Given the description of an element on the screen output the (x, y) to click on. 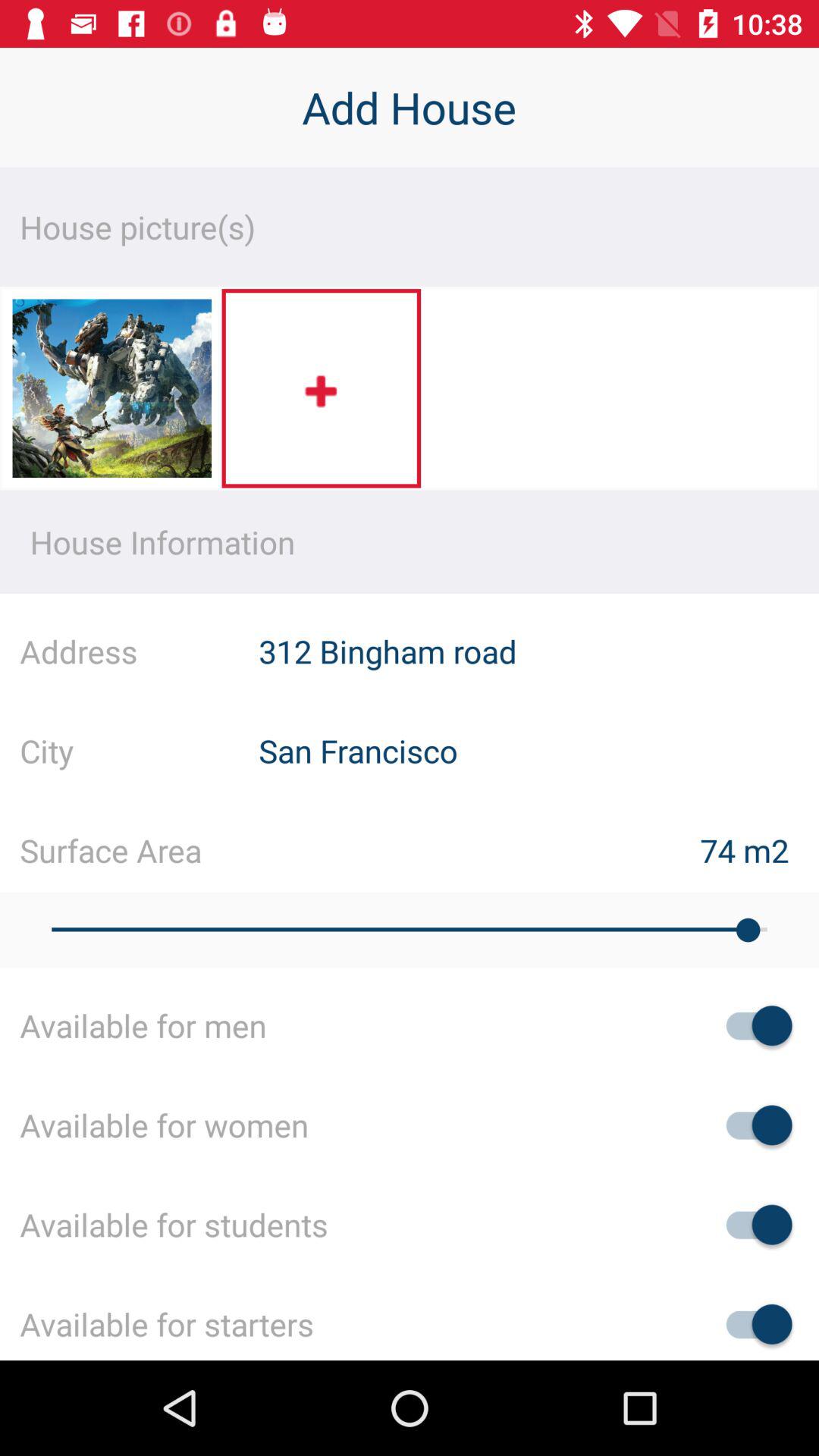
launch the item to the right of the city (538, 750)
